Given the description of an element on the screen output the (x, y) to click on. 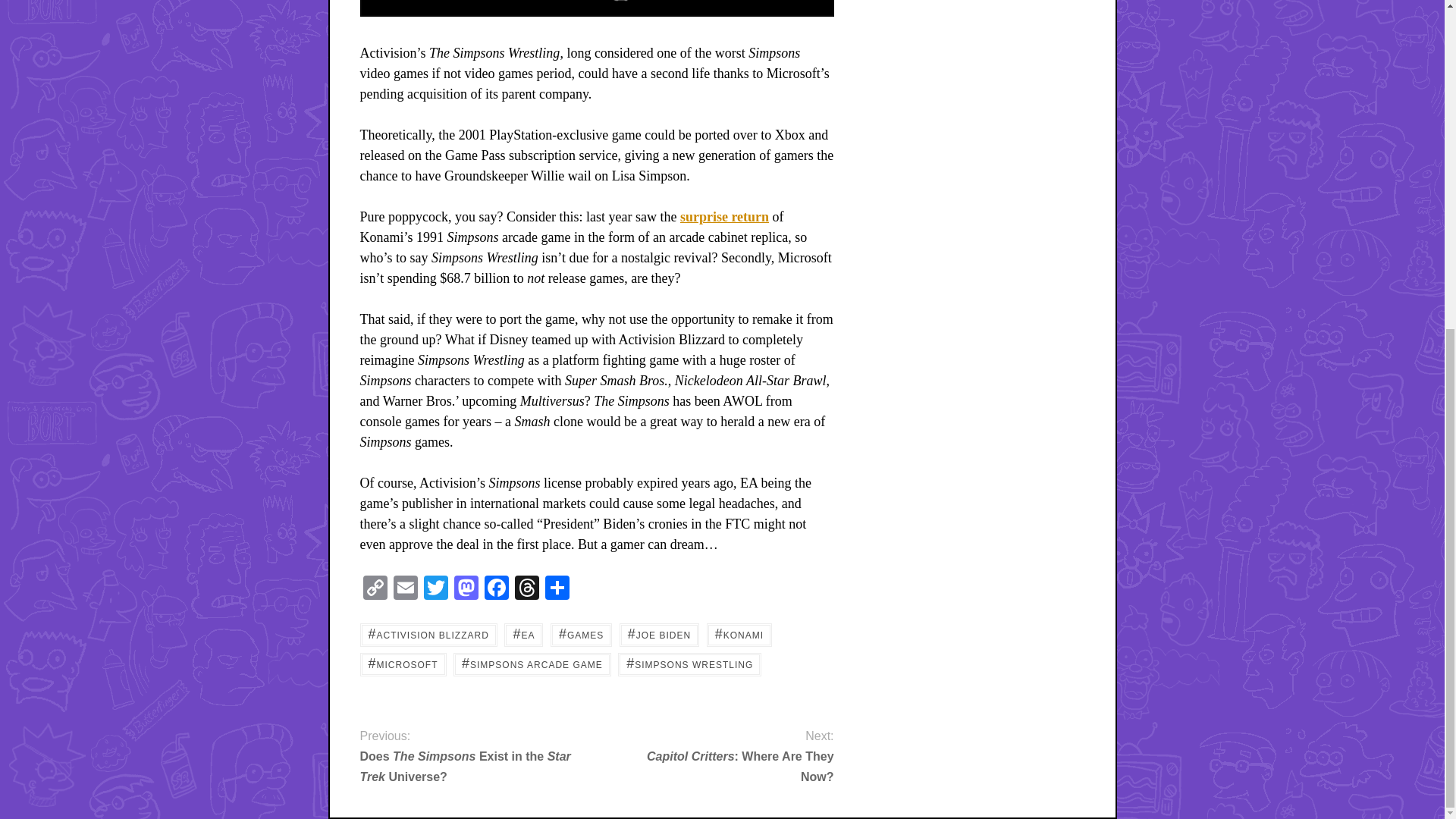
Twitter (434, 589)
Facebook (495, 589)
Email (405, 589)
Mastodon (464, 589)
Capitol Critters: Where Are They Now? (726, 766)
Copy Link (374, 589)
Mastodon (464, 589)
Twitter (434, 589)
Does The Simpsons Exist in the Star Trek Universe? (465, 766)
Copy Link (374, 589)
